Given the description of an element on the screen output the (x, y) to click on. 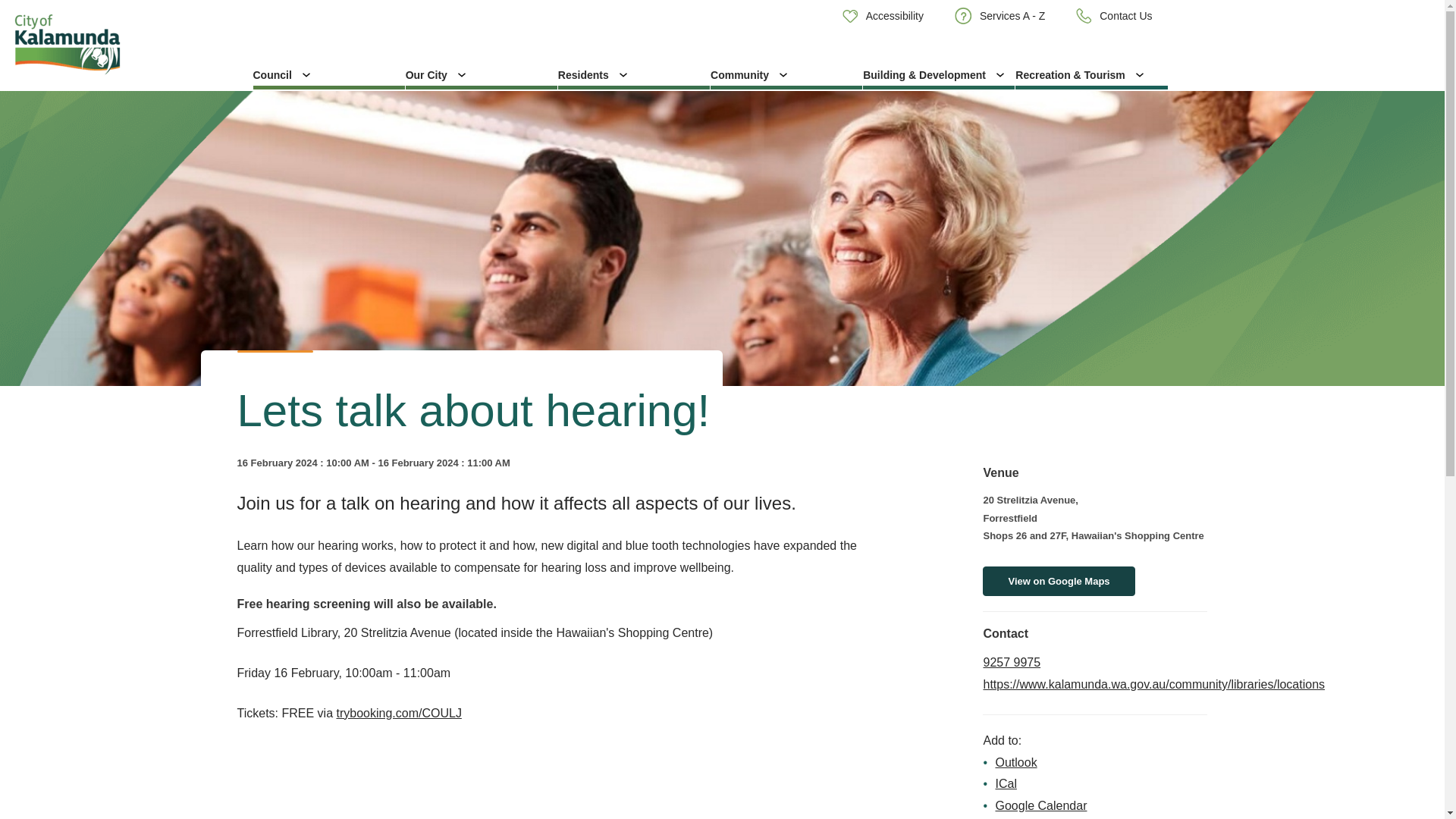
Contact Us (1114, 15)
City of Kalamunda (119, 44)
Services A - Z (999, 15)
Accessibility (883, 15)
Council (328, 74)
Opens in a new tab (1153, 684)
